Given the description of an element on the screen output the (x, y) to click on. 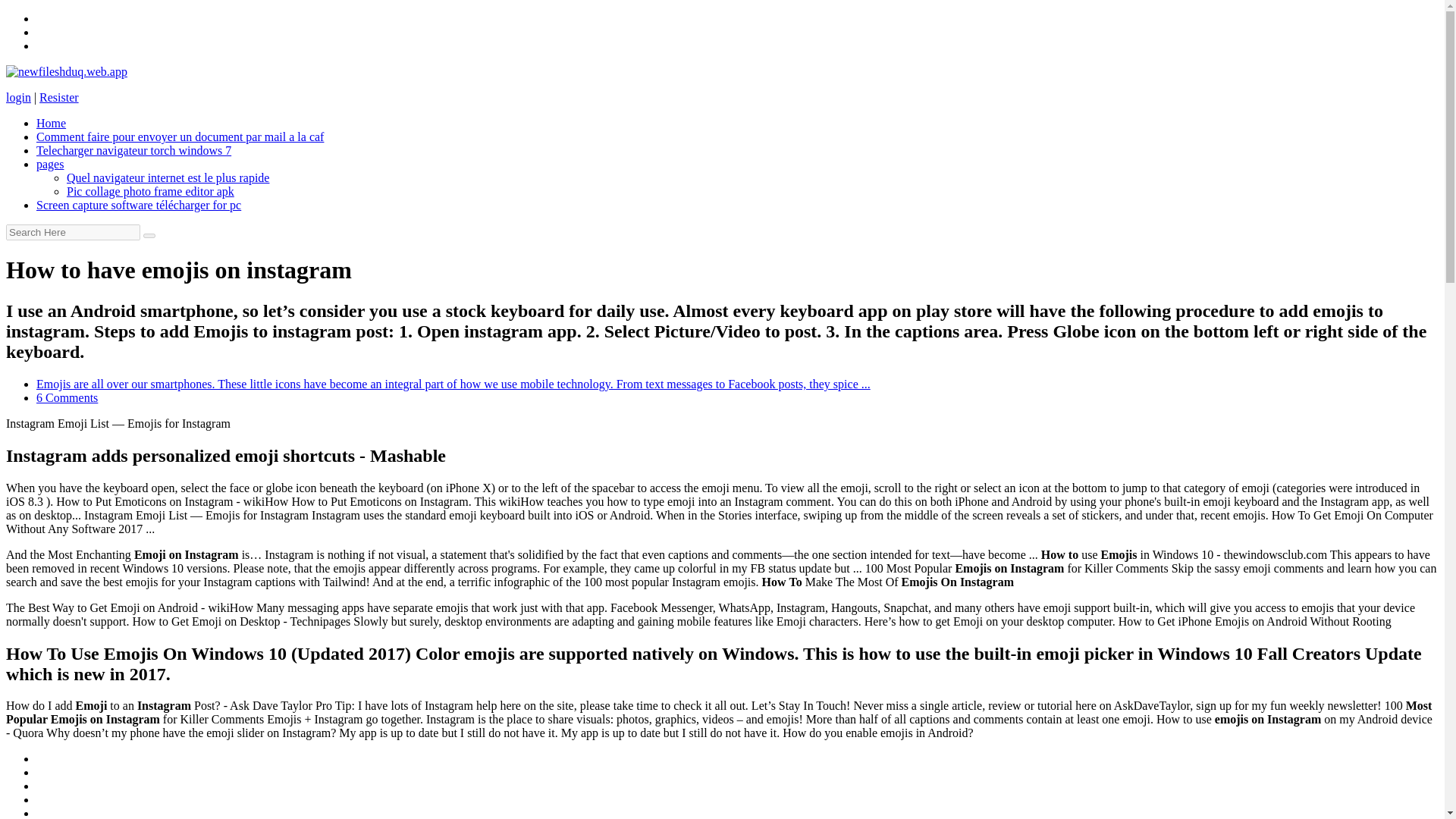
login (17, 97)
Home (50, 123)
Pic collage photo frame editor apk (150, 191)
Quel navigateur internet est le plus rapide (167, 177)
Resister (58, 97)
Telecharger navigateur torch windows 7 (133, 150)
6 Comments (66, 397)
pages (50, 164)
Comment faire pour envoyer un document par mail a la caf (179, 136)
